Given the description of an element on the screen output the (x, y) to click on. 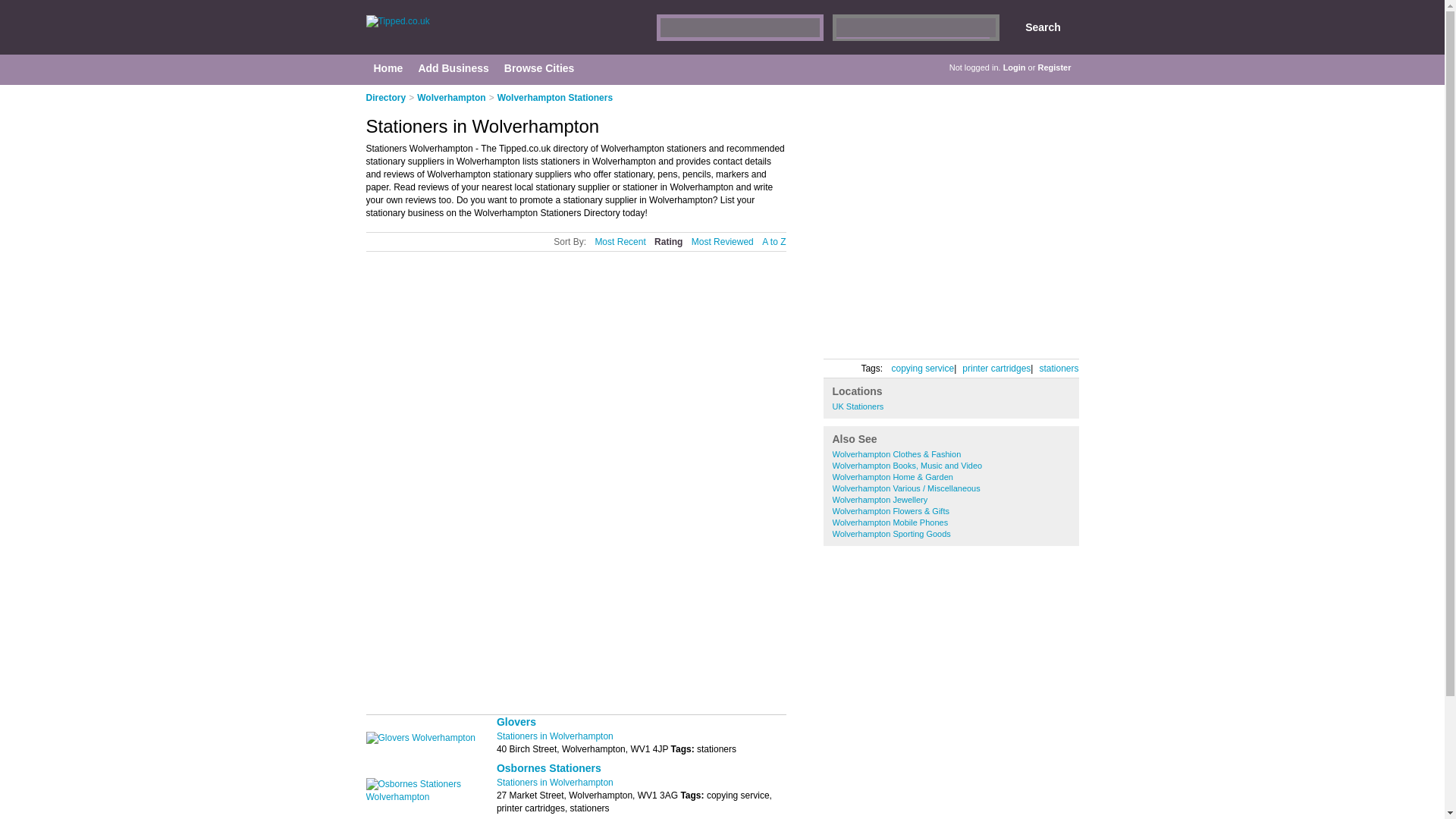
Search (1042, 26)
Search (1042, 26)
Osbornes Stationers (548, 767)
Wolverhampton Jewellery (880, 499)
stationers (1058, 368)
Rating (667, 241)
Tipped.co.uk (507, 34)
Stationers in Wolverhampton (554, 782)
Wolverhampton Mobile Phones (890, 522)
Glovers (515, 721)
Browse Cities (538, 68)
Osbornes Stationers - Stationers in Wolverhampton (548, 767)
Wolverhampton Stationers (554, 97)
Most Reviewed (722, 241)
Directory (385, 97)
